Given the description of an element on the screen output the (x, y) to click on. 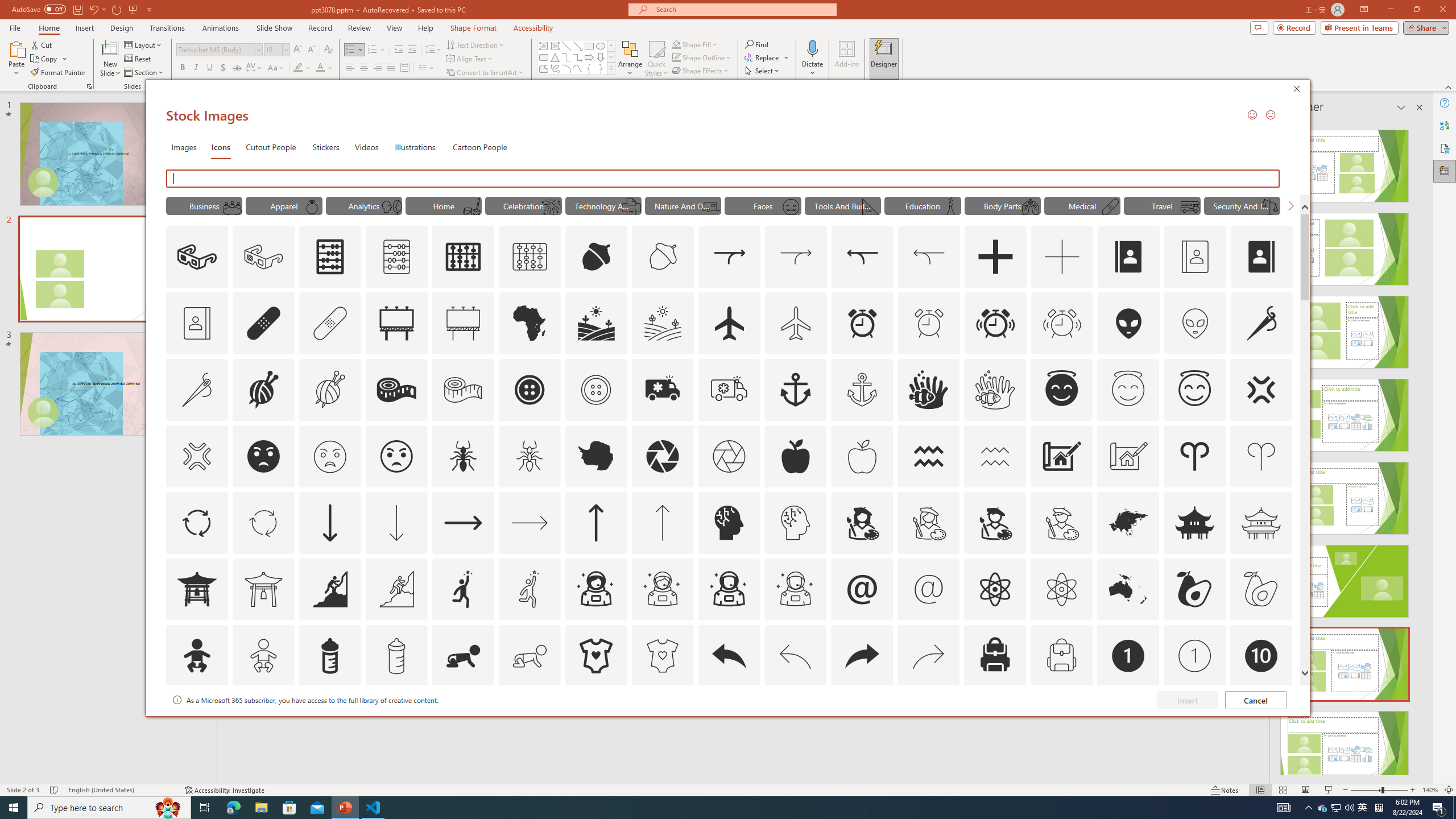
"Apparel" Icons. (283, 205)
AutomationID: Icons_3dGlasses_M (263, 256)
AutomationID: Icons_Badge9 (1194, 721)
Cancel (1255, 700)
AutomationID: Icons_ArtificialIntelligence (729, 522)
AutomationID: Icons_Agriculture_M (663, 323)
Shape Fill Dark Green, Accent 2 (675, 44)
Right Brace (600, 68)
